Given the description of an element on the screen output the (x, y) to click on. 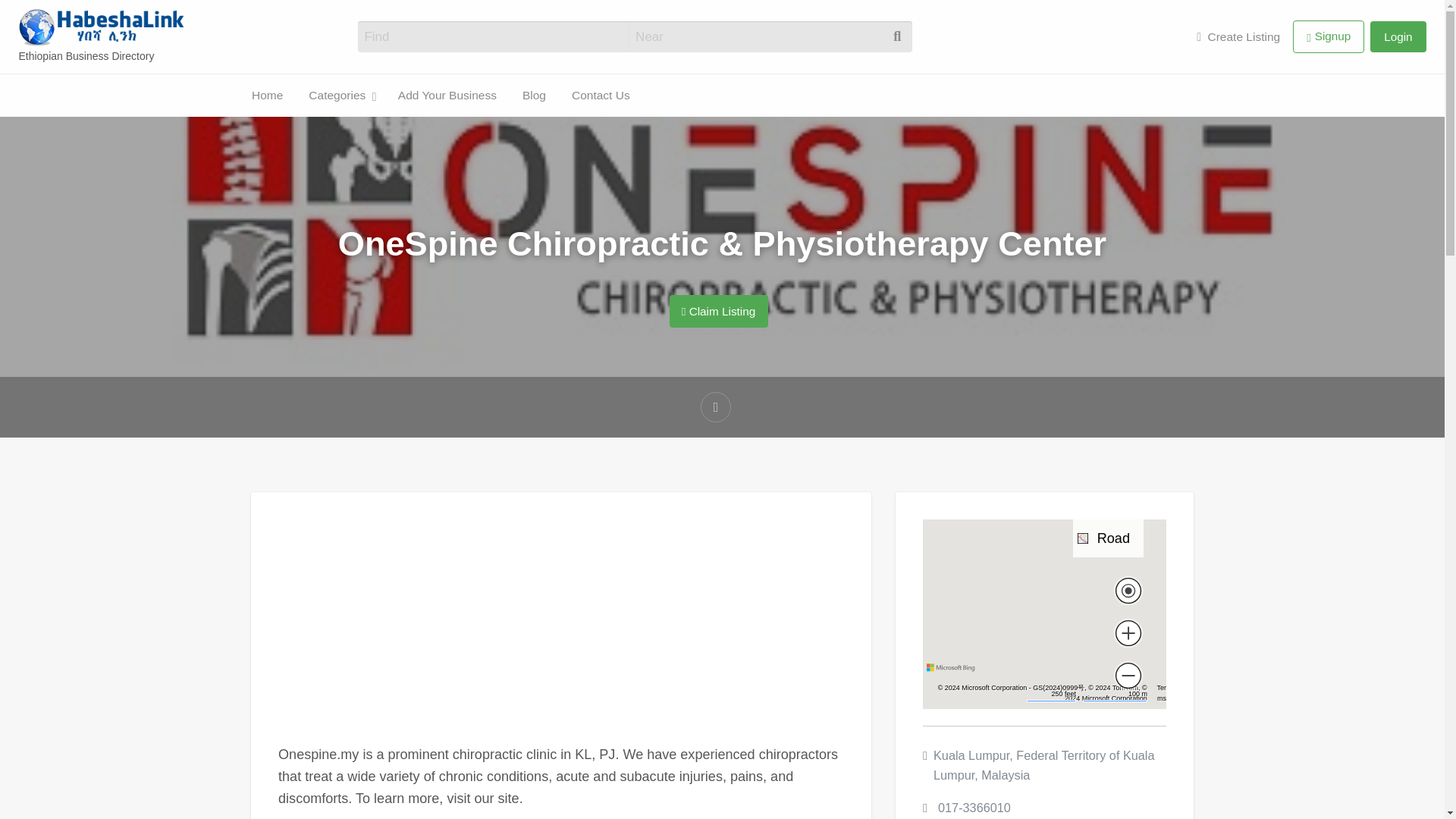
Current Map Type: Road - View aerial, birds eye, and more... (1107, 538)
Advertisement (561, 631)
Search (30, 16)
